Given the description of an element on the screen output the (x, y) to click on. 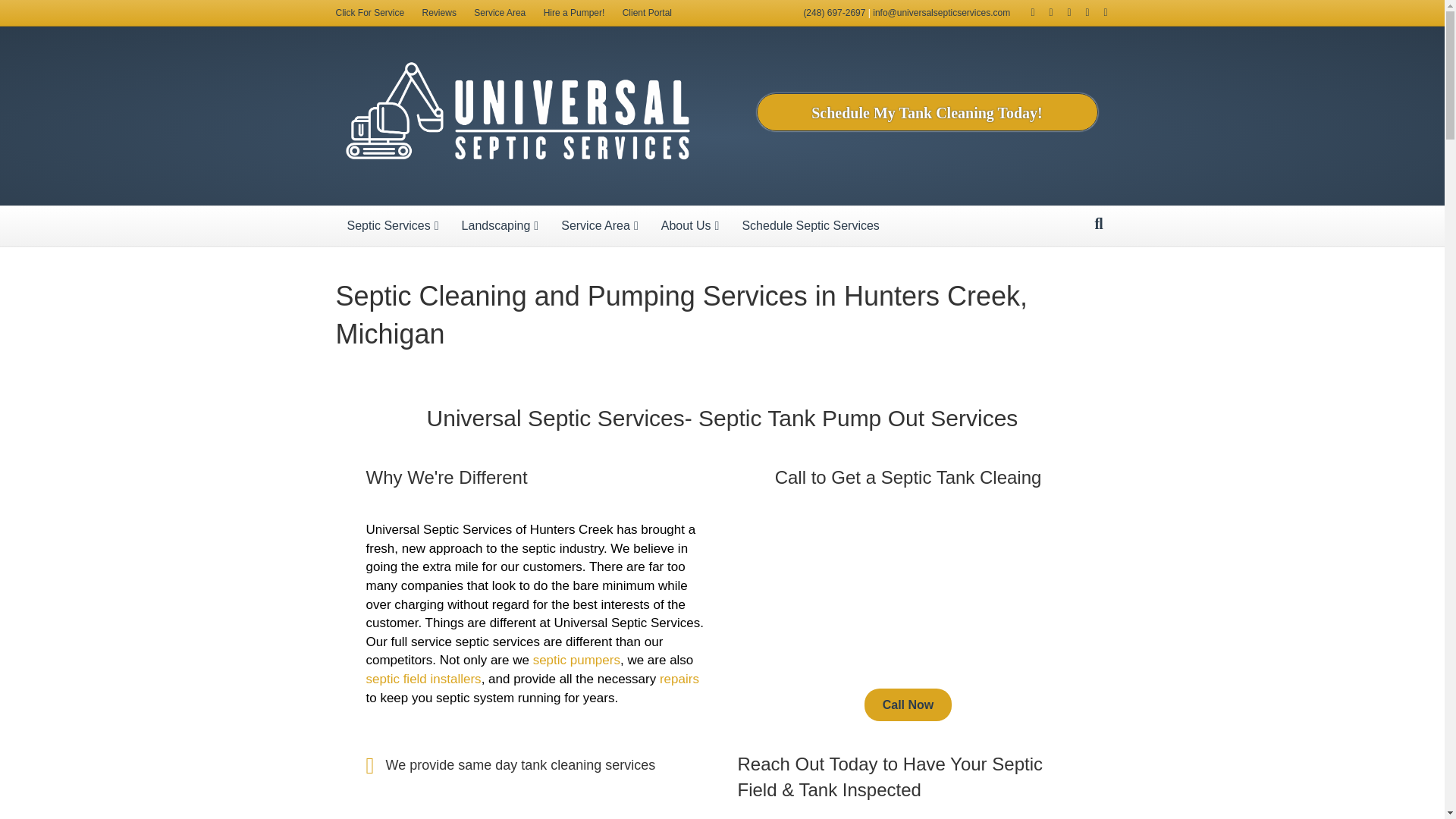
Email (1097, 11)
Google-maps (1042, 11)
Hire a Pumper! (573, 13)
Reviews (439, 13)
Client Portal (646, 13)
Yelp (1061, 11)
Youtube (1079, 11)
Service Area (498, 13)
Click For Service (369, 13)
Facebook (1024, 11)
